Given the description of an element on the screen output the (x, y) to click on. 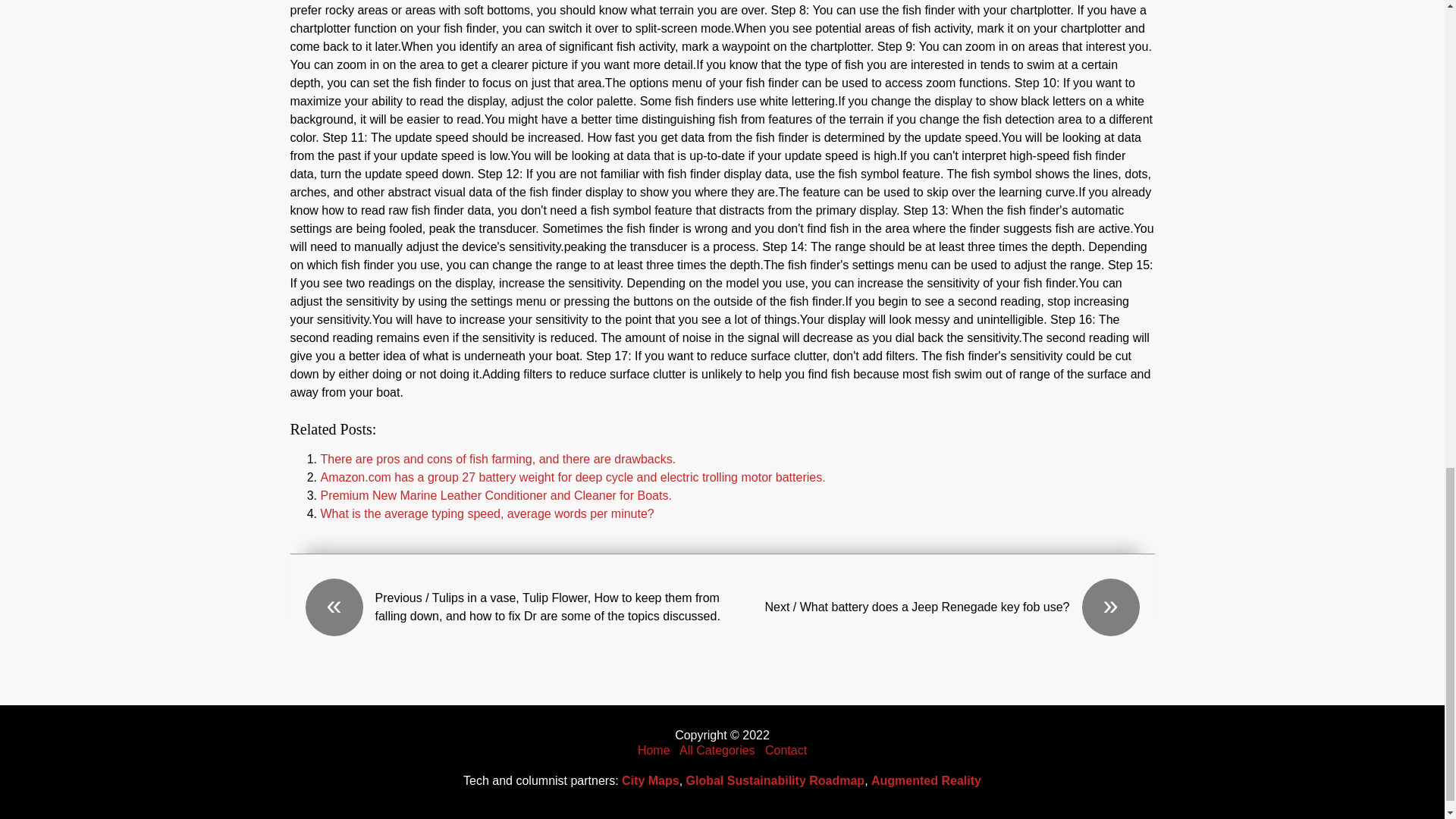
Home (653, 749)
Augmented Reality (925, 780)
Contact (785, 749)
All Categories (717, 749)
City Maps (650, 780)
Parkers Legacy (653, 749)
Categories (717, 749)
Global Sustainability Roadmap (774, 780)
Contact Us (785, 749)
What is the average typing speed, average words per minute? (486, 513)
What battery does a Jeep Renegade key fob use? (930, 606)
